Given the description of an element on the screen output the (x, y) to click on. 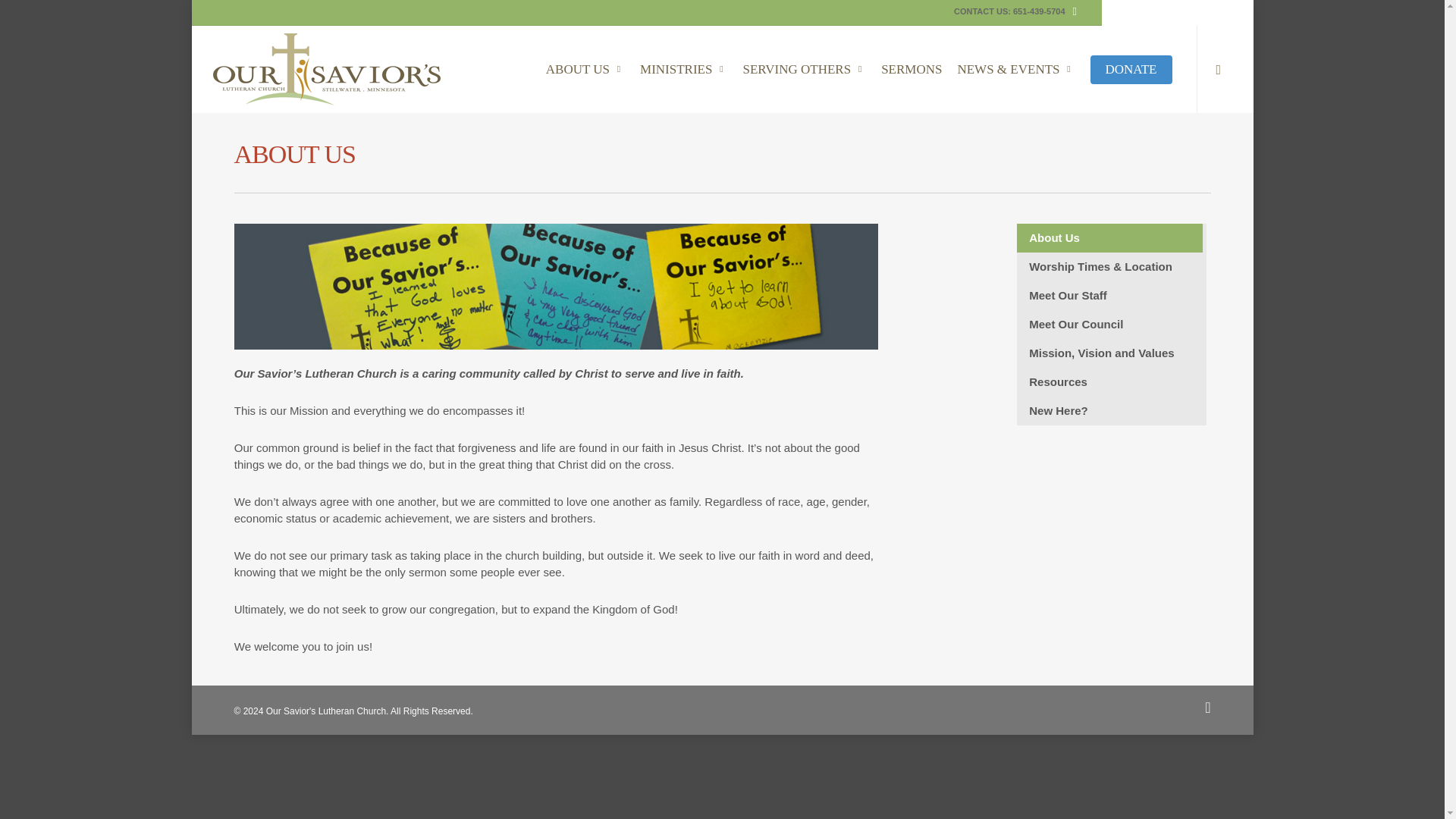
SERVING OTHERS (804, 69)
About Us (1109, 237)
Meet Our Staff (1109, 295)
DONATE (1131, 69)
ABOUT US (584, 69)
SERMONS (911, 69)
MINISTRIES (683, 69)
CONTACT US: 651-439-5704 (1009, 11)
